Given the description of an element on the screen output the (x, y) to click on. 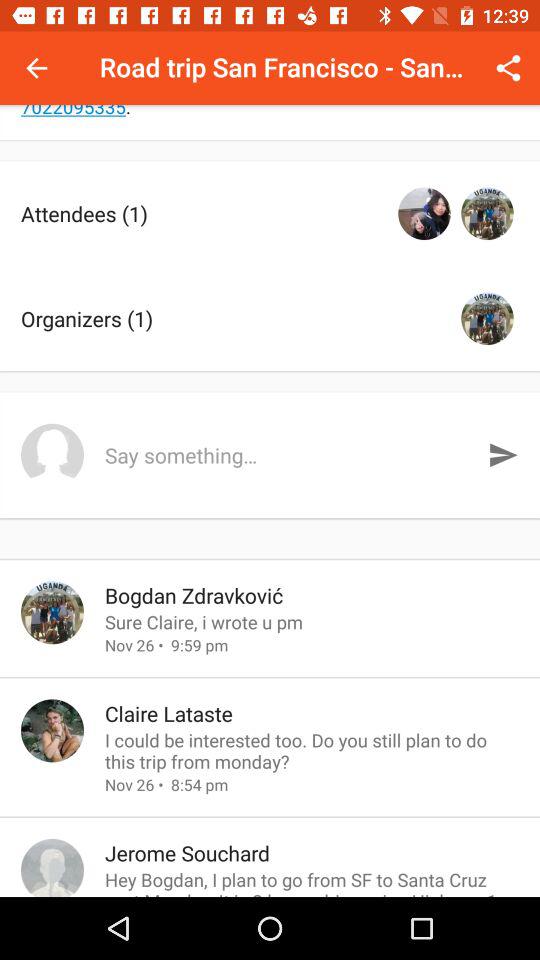
choose i am planning (270, 122)
